Given the description of an element on the screen output the (x, y) to click on. 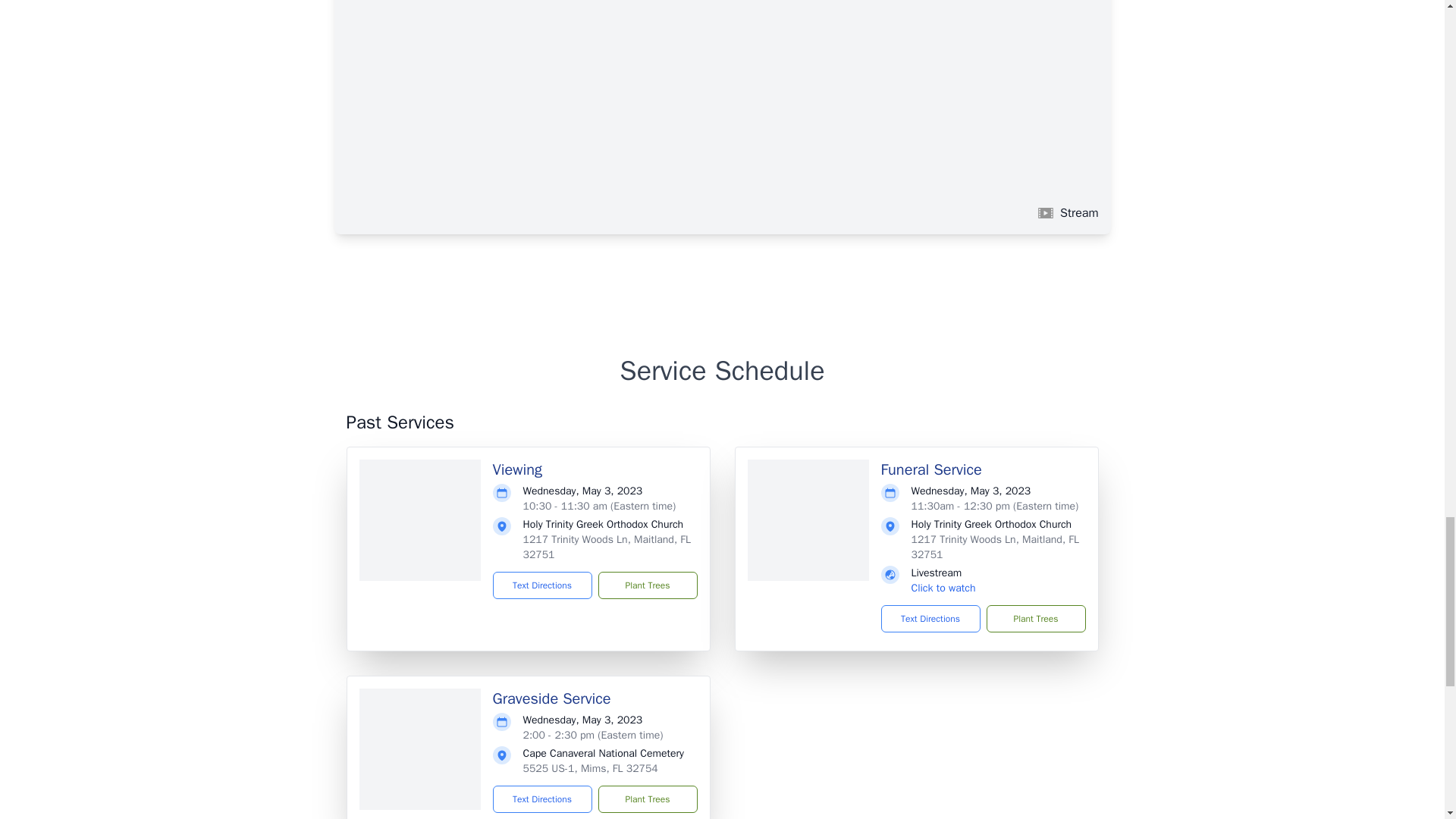
1217 Trinity Woods Ln, Maitland, FL 32751 (995, 547)
Plant Trees (646, 584)
Text Directions (542, 584)
Plant Trees (646, 799)
Text Directions (542, 799)
5525 US-1, Mims, FL 32754 (590, 768)
Text Directions (929, 618)
Plant Trees (1034, 618)
1217 Trinity Woods Ln, Maitland, FL 32751 (606, 547)
Click to watch (943, 587)
